Given the description of an element on the screen output the (x, y) to click on. 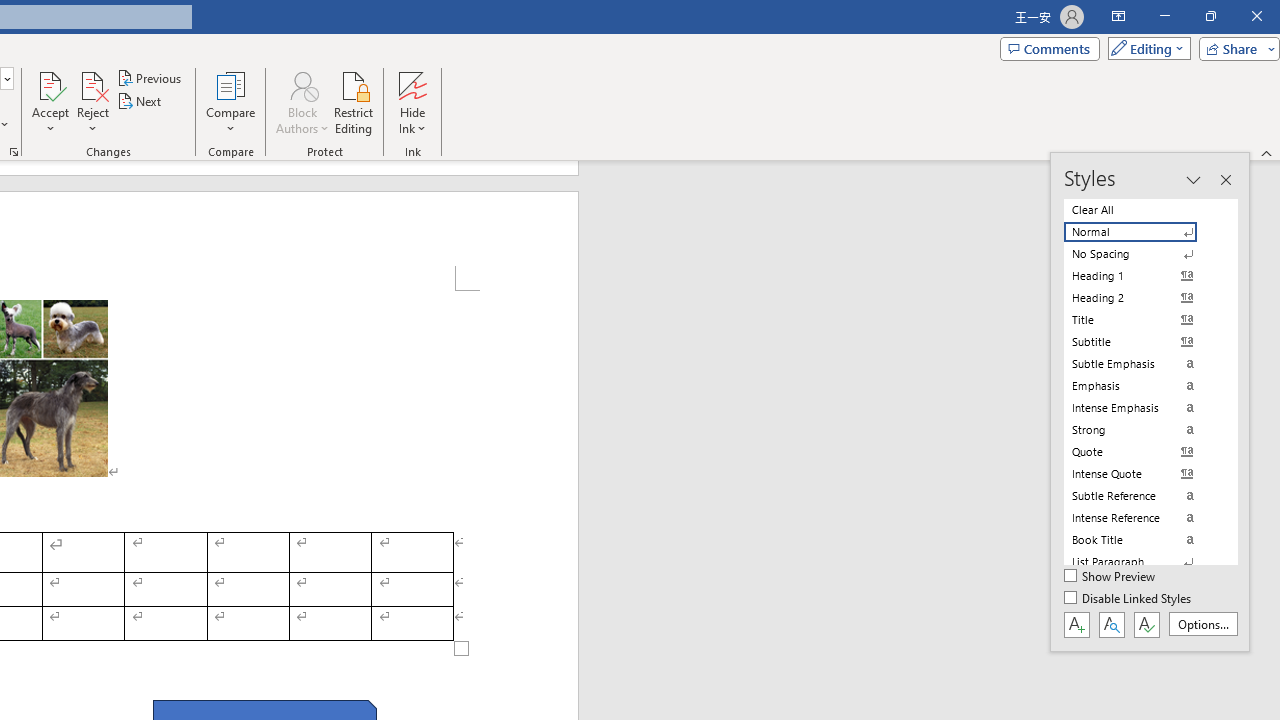
Subtle Reference (1142, 495)
Book Title (1142, 539)
No Spacing (1142, 253)
Accept and Move to Next (50, 84)
Class: NetUIButton (1146, 624)
Intense Reference (1142, 517)
Collapse the Ribbon (1267, 152)
Class: MsoCommandBar (1149, 401)
Show Preview (1110, 577)
Strong (1142, 429)
Emphasis (1142, 385)
Change Tracking Options... (13, 151)
